Given the description of an element on the screen output the (x, y) to click on. 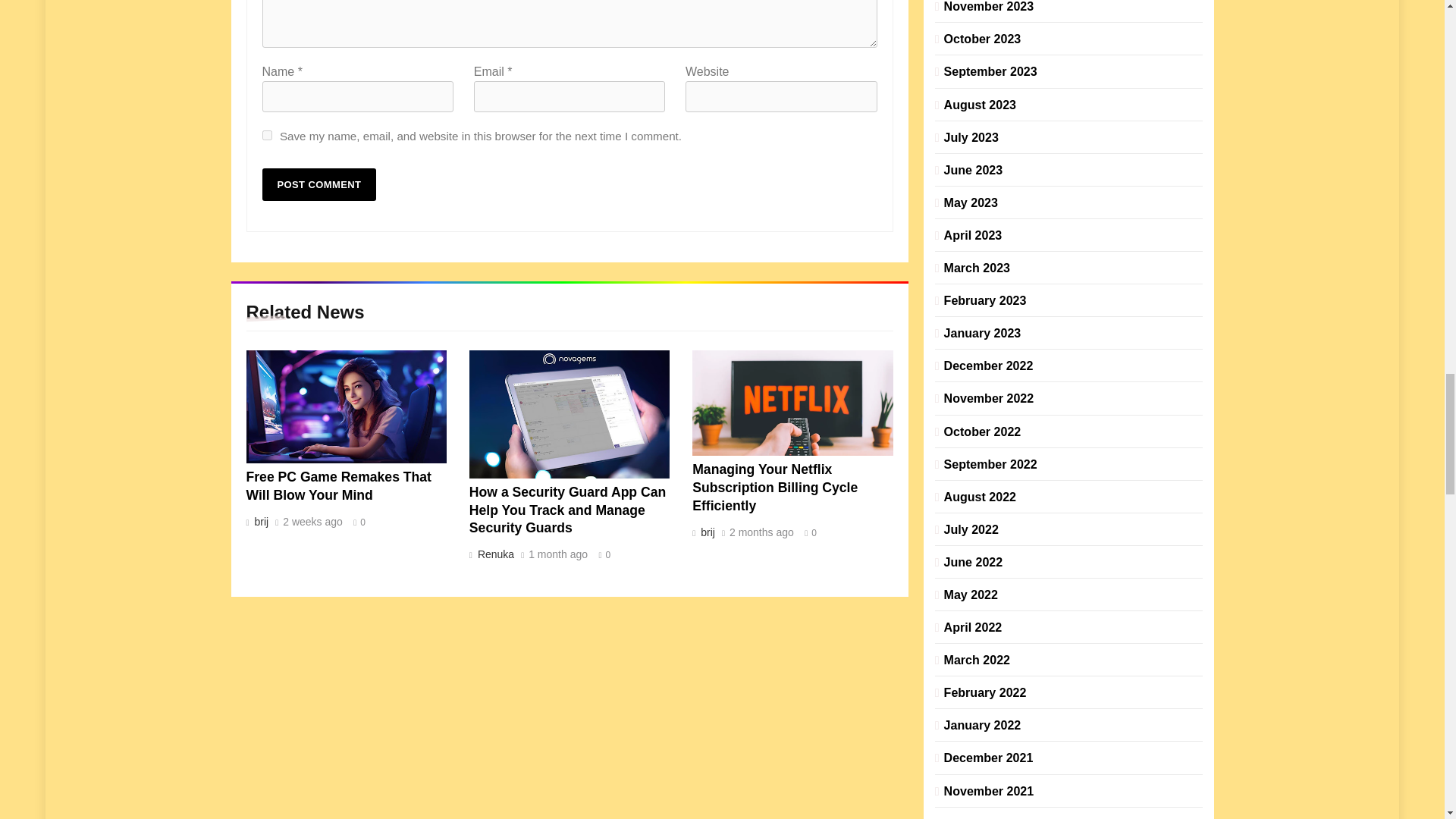
Managing Your Netflix Subscription Billing Cycle Efficiently (792, 402)
Free PC Game Remakes That Will Blow Your Mind (345, 406)
Post Comment (319, 184)
yes (267, 135)
